Given the description of an element on the screen output the (x, y) to click on. 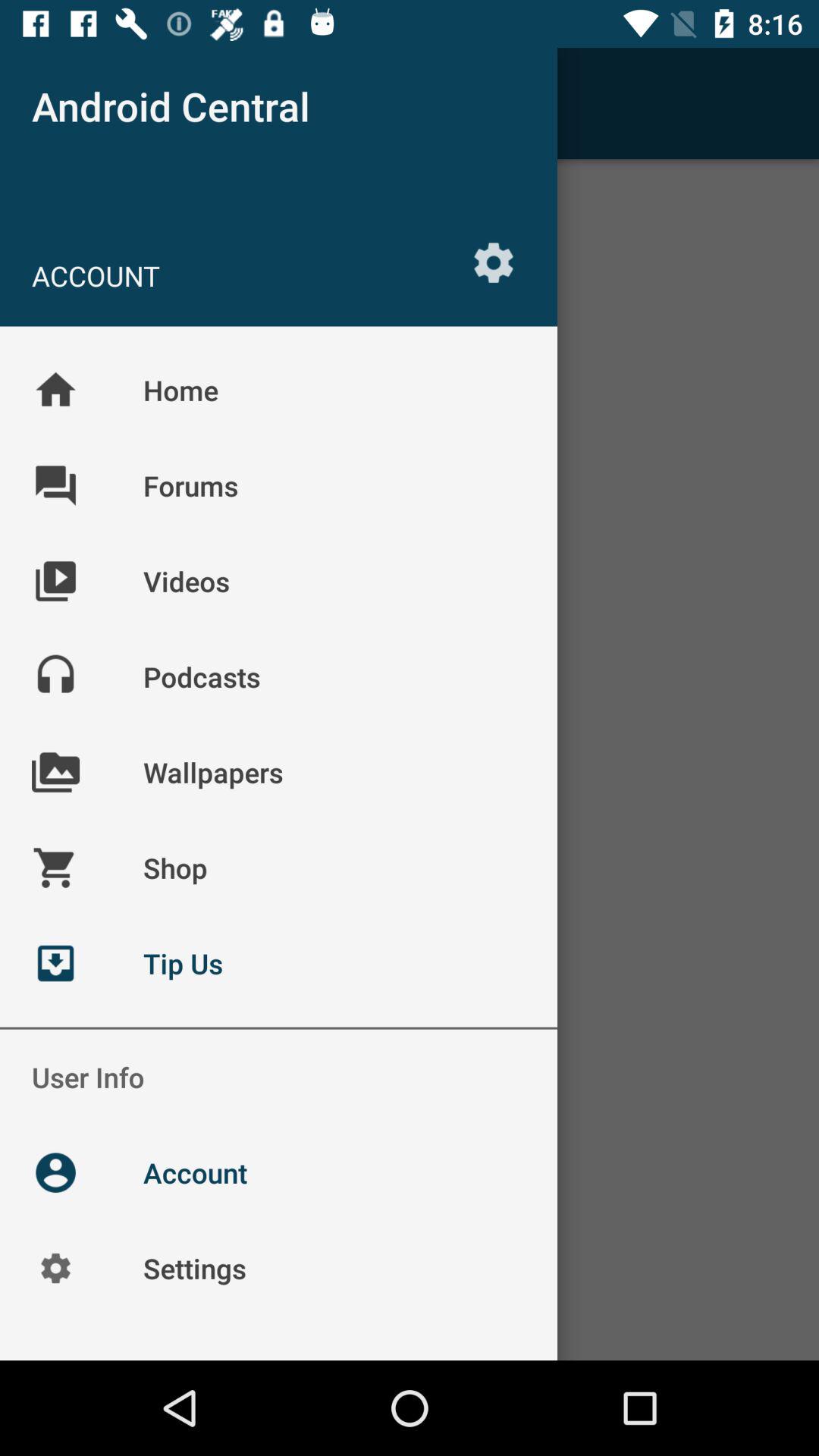
bring up options (493, 262)
